Given the description of an element on the screen output the (x, y) to click on. 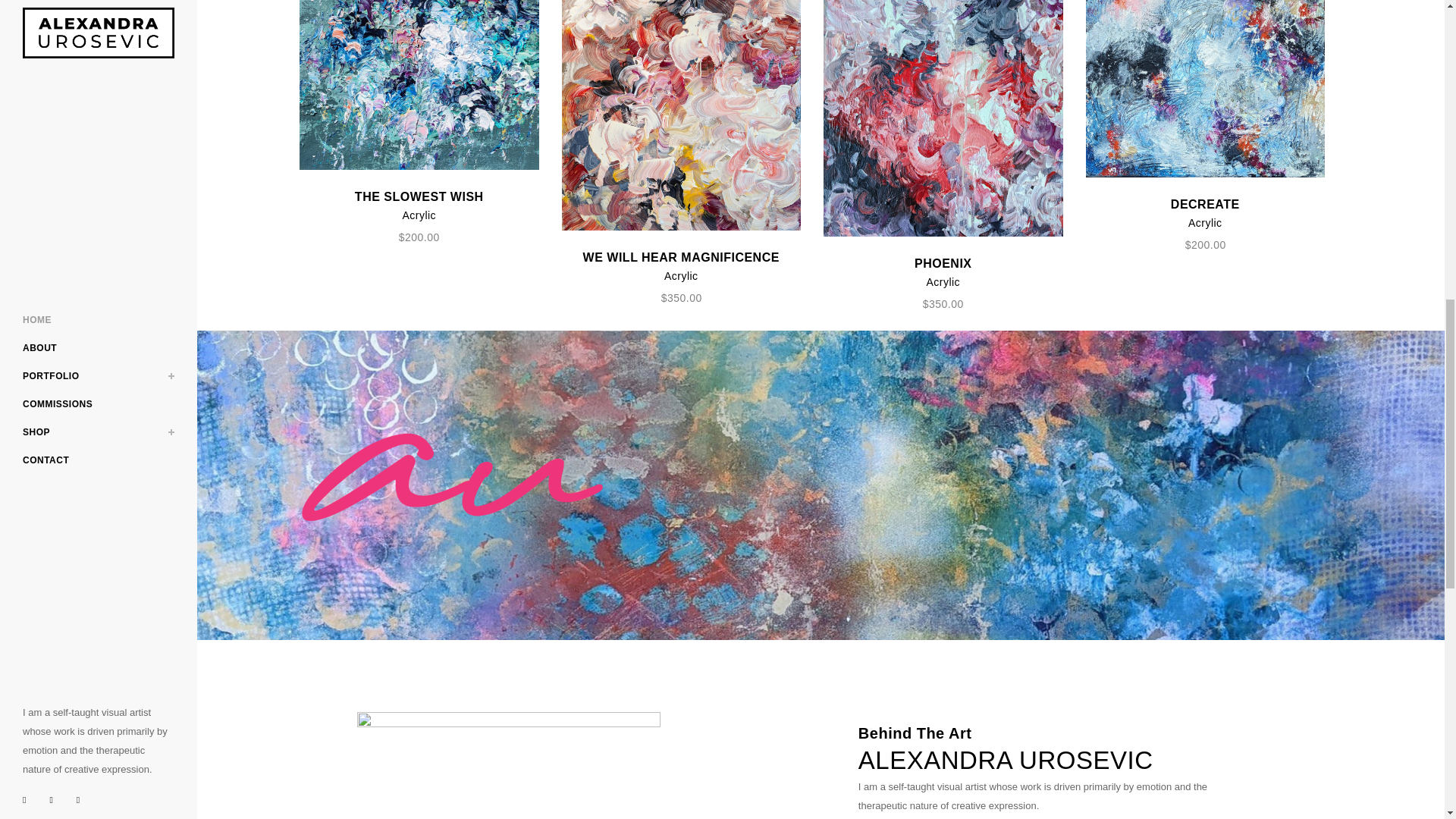
Decreate (1205, 89)
We Will Hear Magnificence (680, 115)
Phoenix (943, 118)
The Slowest Wish (418, 84)
